Given the description of an element on the screen output the (x, y) to click on. 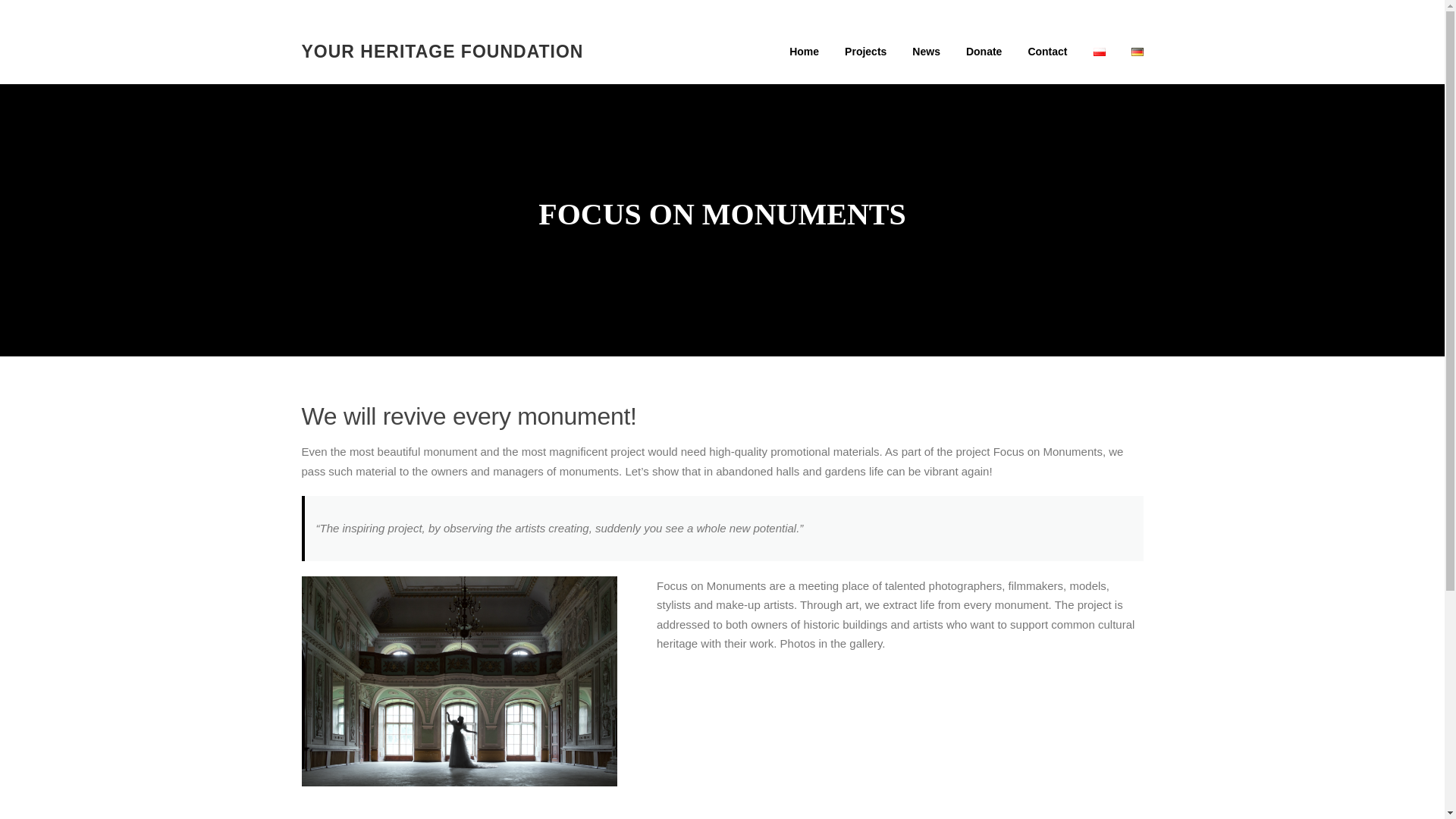
Projects (865, 51)
Contact (1047, 51)
YOUR HERITAGE FOUNDATION (442, 50)
Donate (983, 51)
